Given the description of an element on the screen output the (x, y) to click on. 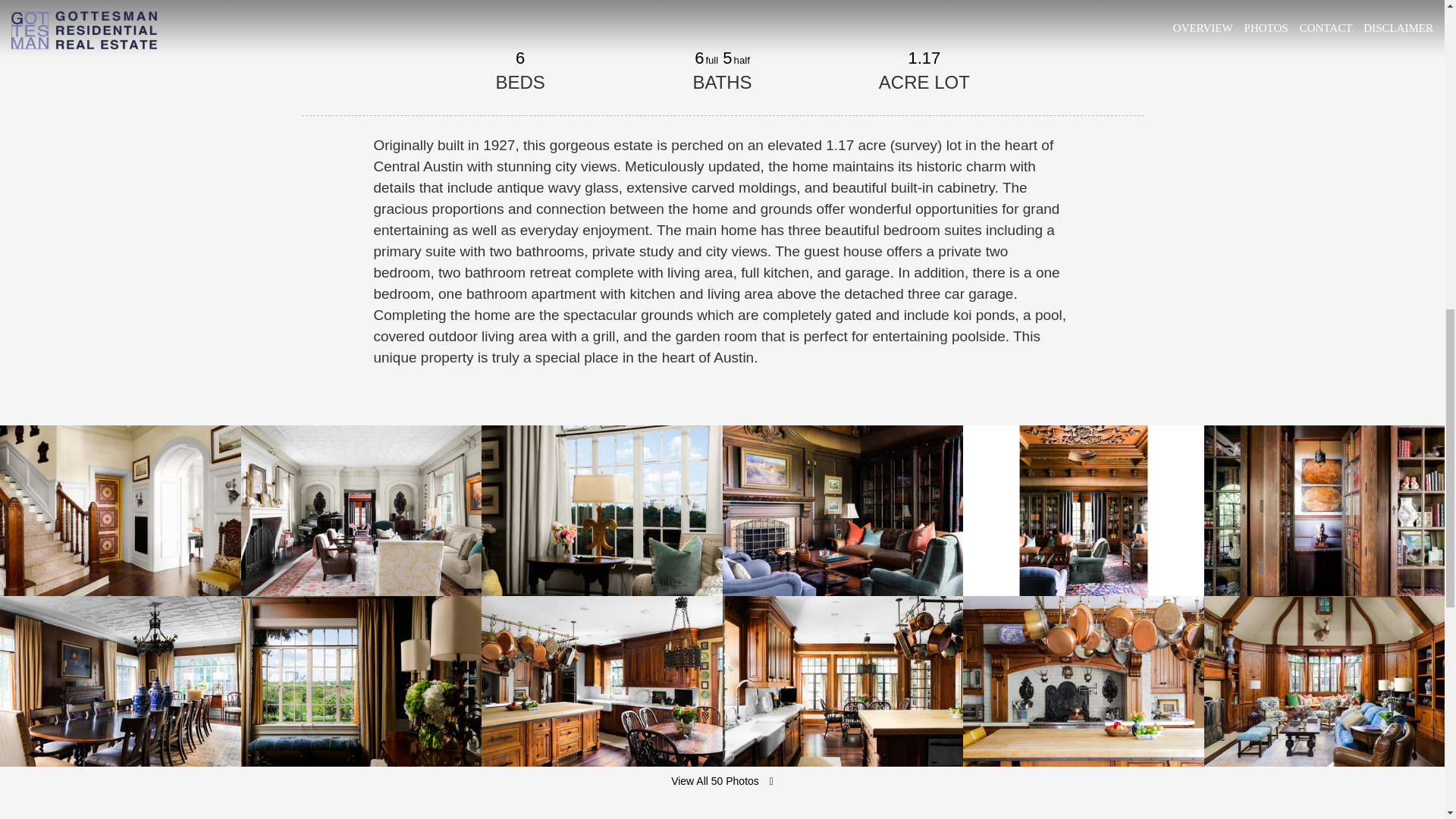
View All 50 Photos (721, 781)
